Given the description of an element on the screen output the (x, y) to click on. 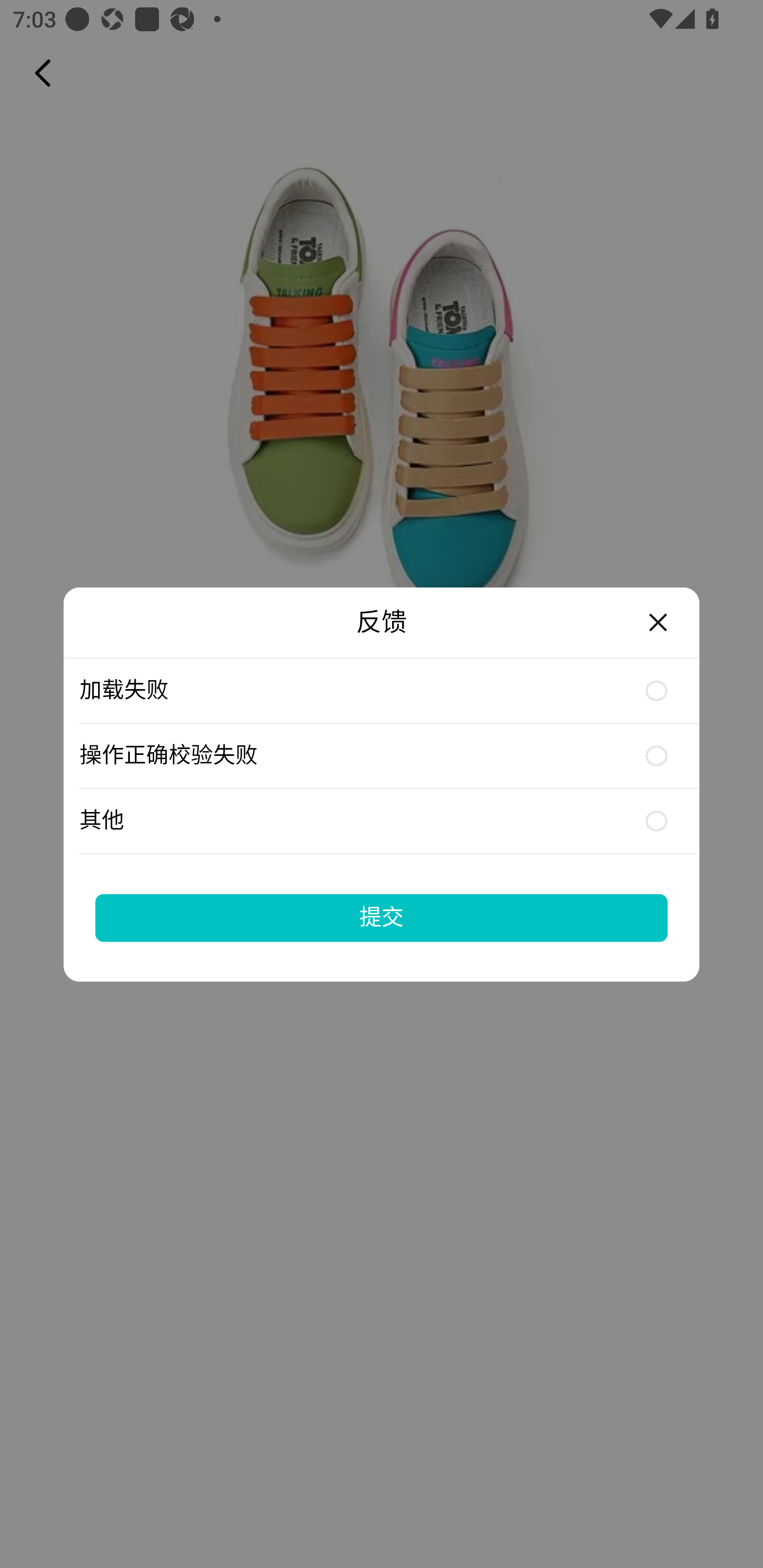
提交 (381, 917)
